Given the description of an element on the screen output the (x, y) to click on. 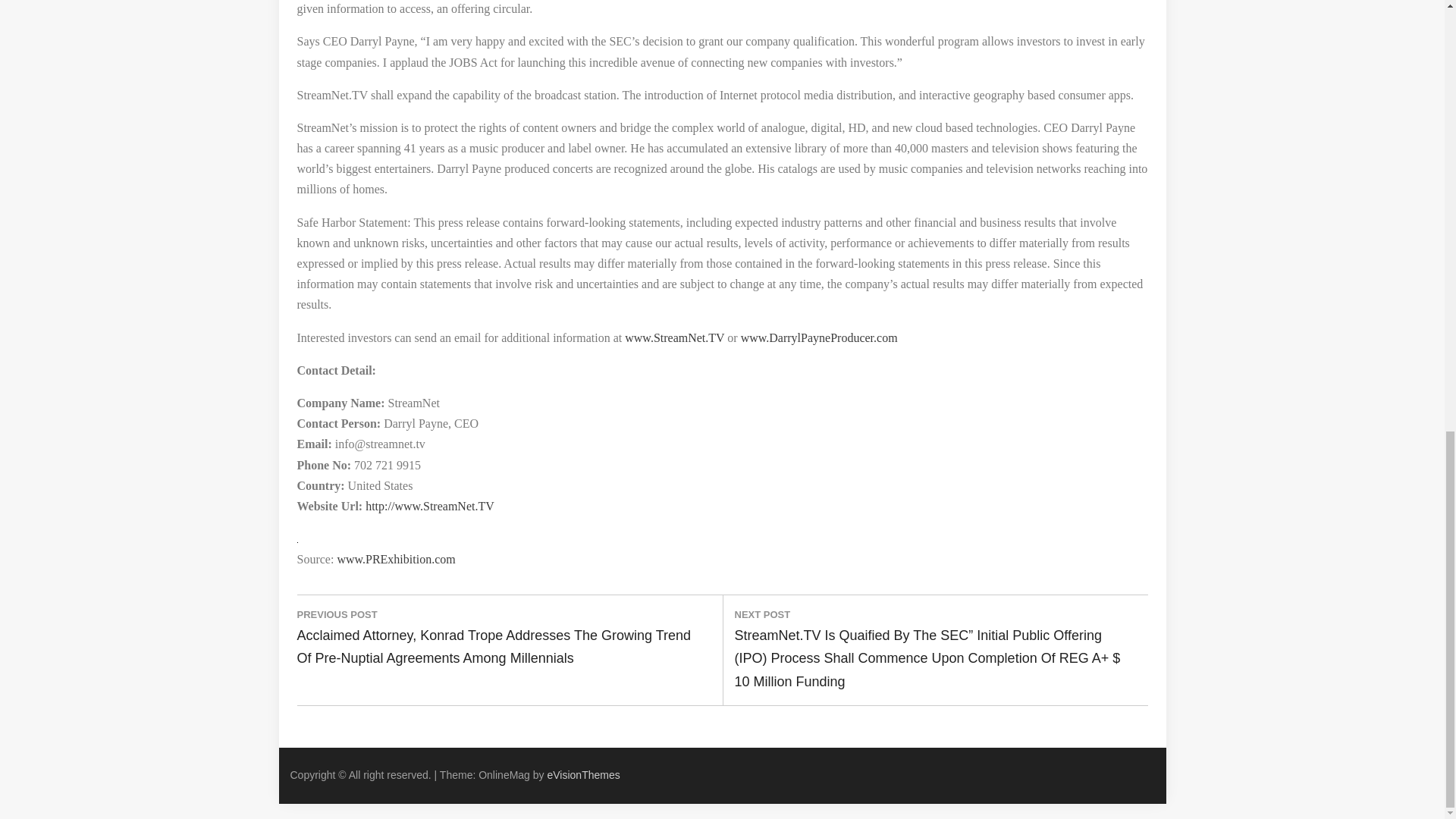
www.DarrylPayneProducer.com (819, 337)
www.StreamNet.TV (673, 337)
www.PRExhibition.com (395, 558)
